Given the description of an element on the screen output the (x, y) to click on. 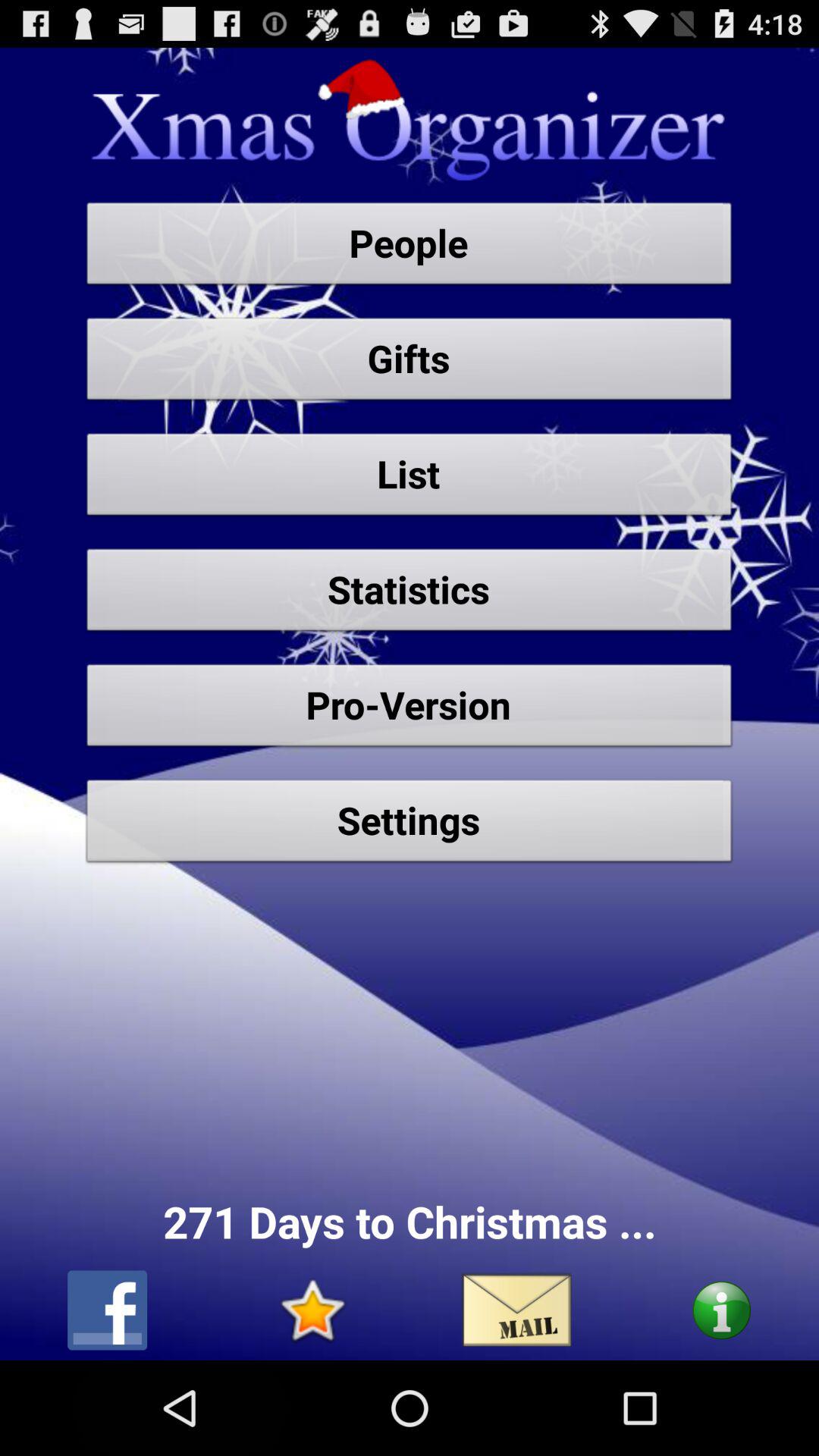
find us on facebook (107, 1310)
